Given the description of an element on the screen output the (x, y) to click on. 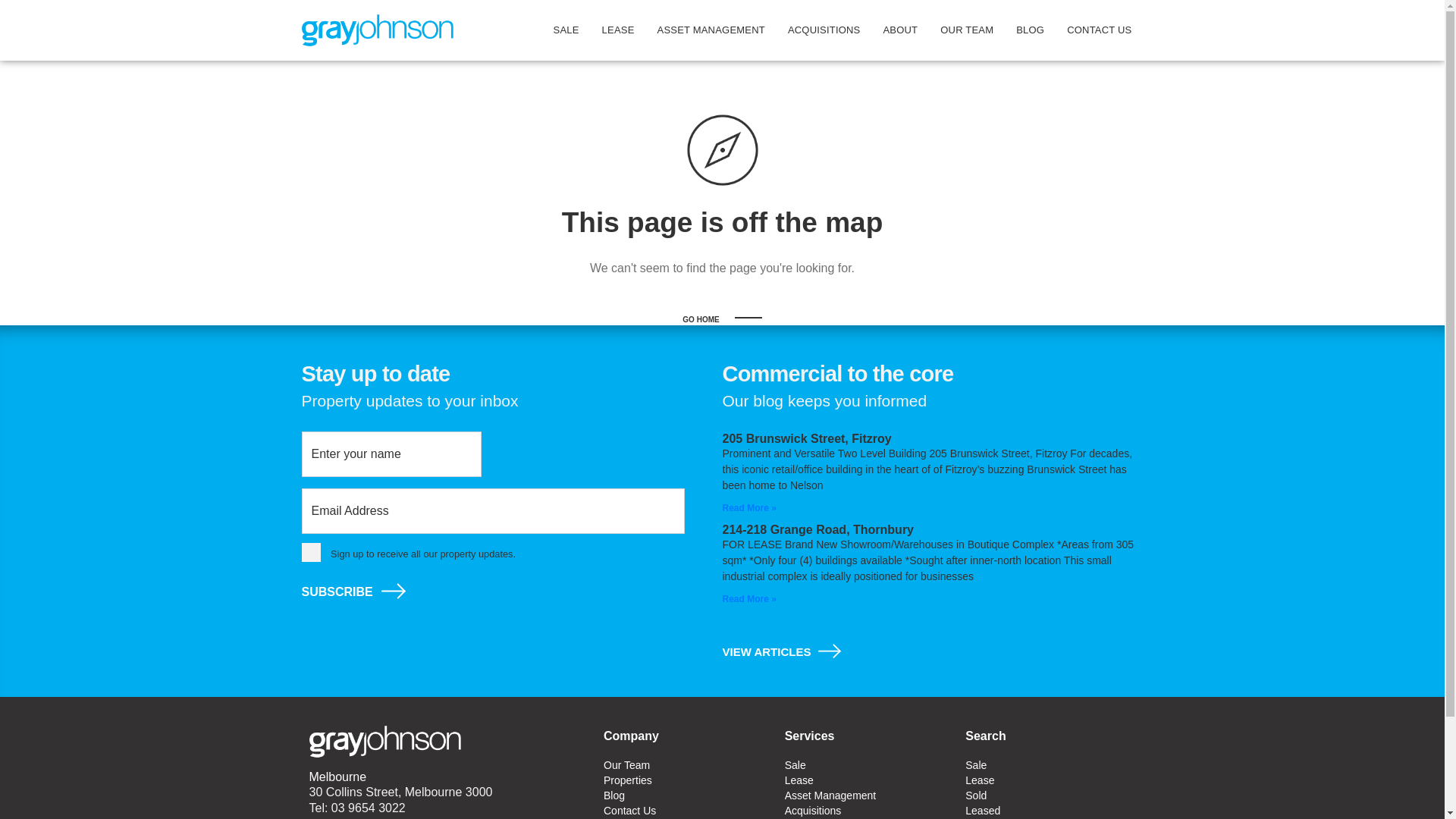
LEASE Element type: text (618, 29)
BLOG Element type: text (1029, 29)
Sale Element type: text (1048, 764)
ACQUISITIONS Element type: text (824, 29)
Leased Element type: text (1048, 810)
Contact Us Element type: text (686, 810)
OUR TEAM Element type: text (966, 29)
Asset Management Element type: text (867, 795)
CONTACT US Element type: text (1098, 29)
30 Collins Street, Melbourne 3000 Element type: text (400, 791)
SUBSCRIBE Element type: text (337, 592)
ASSET MANAGEMENT Element type: text (711, 29)
Tel: 03 9654 3022 Element type: text (357, 807)
GO HOME Element type: text (721, 319)
SALE Element type: text (566, 29)
Acquisitions Element type: text (867, 810)
205 Brunswick Street, Fitzroy Element type: text (806, 438)
Our Team Element type: text (686, 764)
Lease Element type: text (867, 779)
ABOUT Element type: text (899, 29)
Sale Element type: text (867, 764)
Properties Element type: text (686, 779)
Blog Element type: text (686, 795)
214-218 Grange Road, Thornbury Element type: text (817, 529)
Sold Element type: text (1048, 795)
Lease Element type: text (1048, 779)
